Given the description of an element on the screen output the (x, y) to click on. 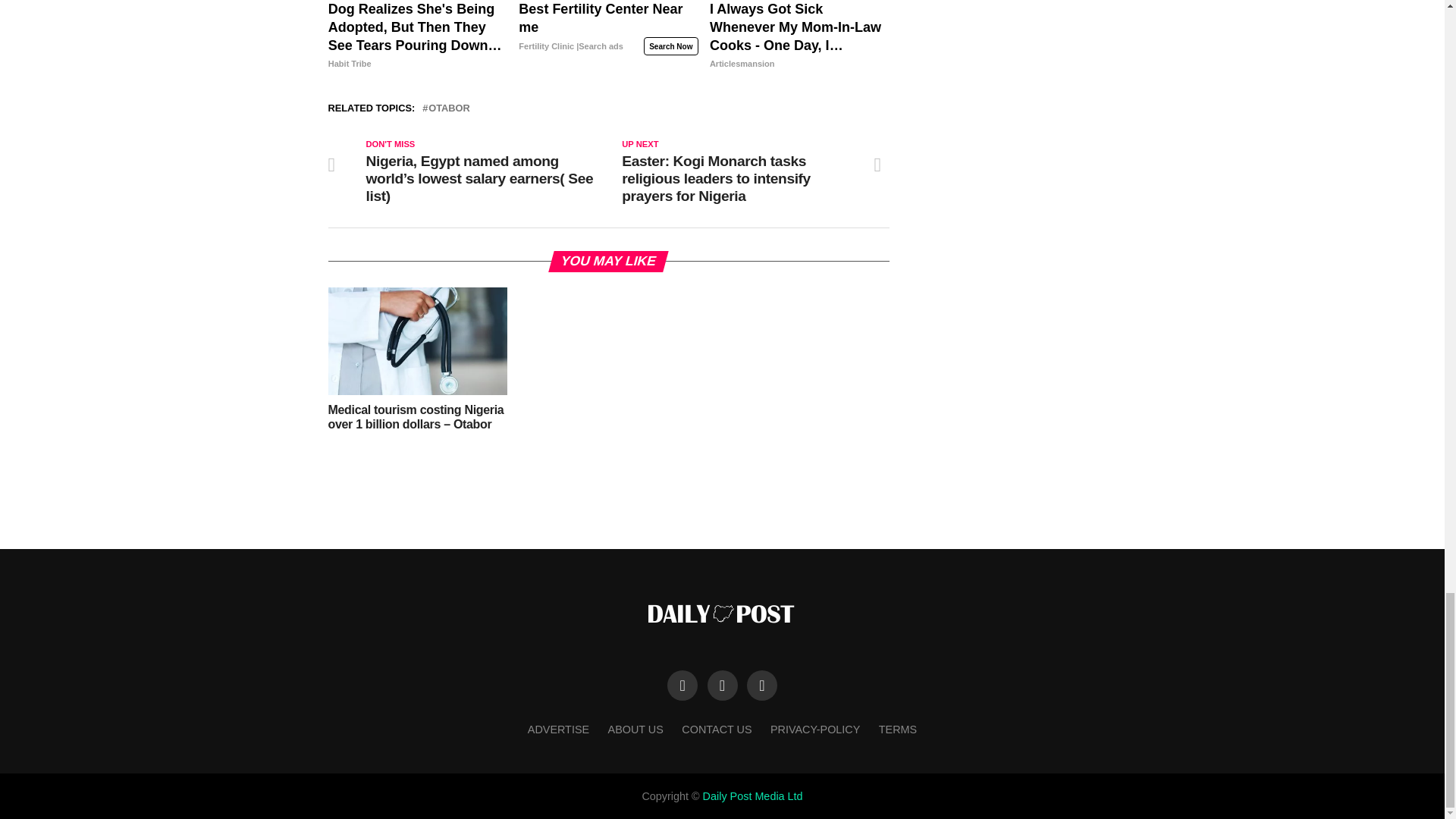
Best Fertility Center Near me (607, 36)
